Given the description of an element on the screen output the (x, y) to click on. 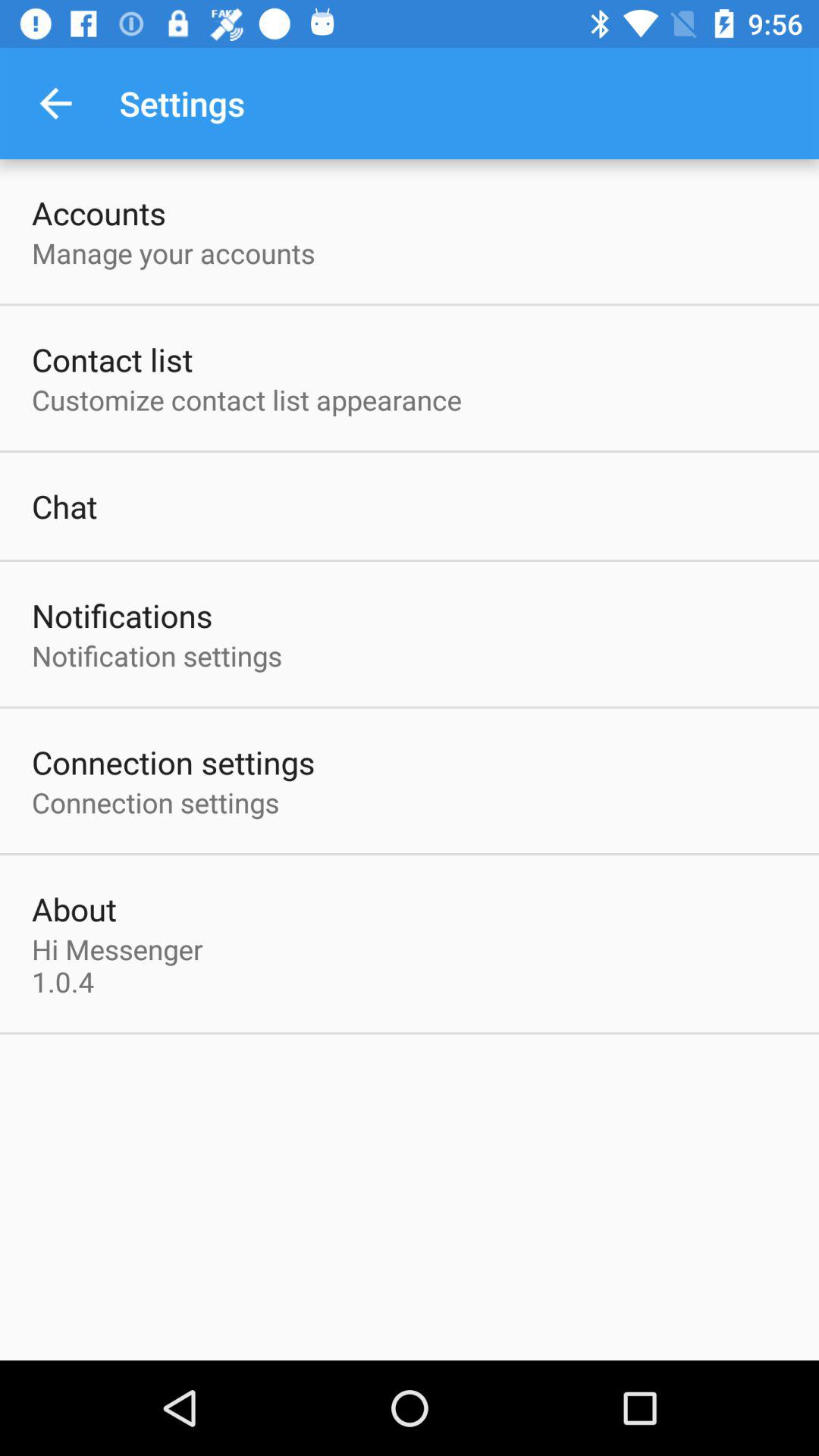
select the manage your accounts (173, 252)
